Given the description of an element on the screen output the (x, y) to click on. 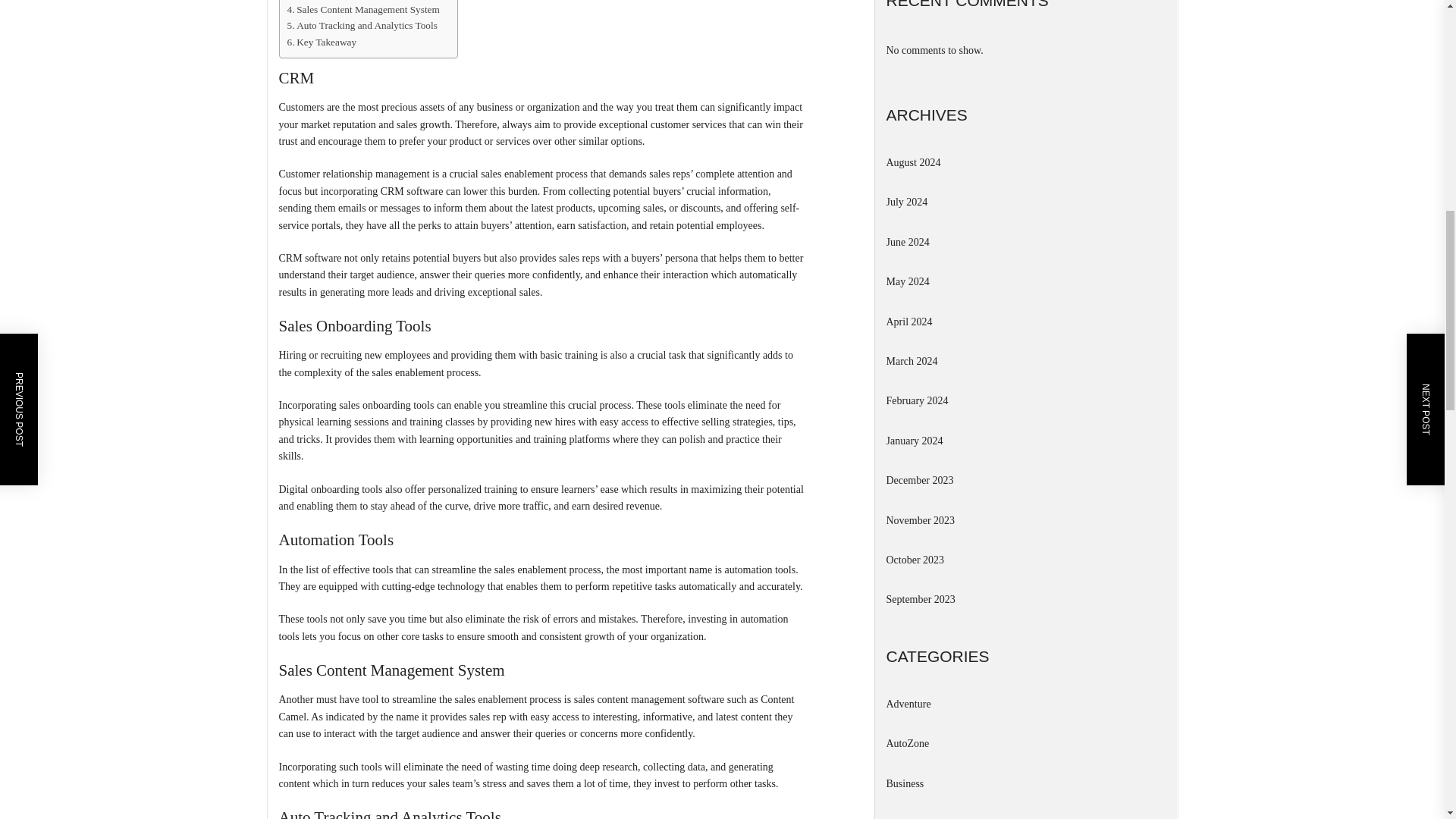
Key Takeaway (321, 41)
